Given the description of an element on the screen output the (x, y) to click on. 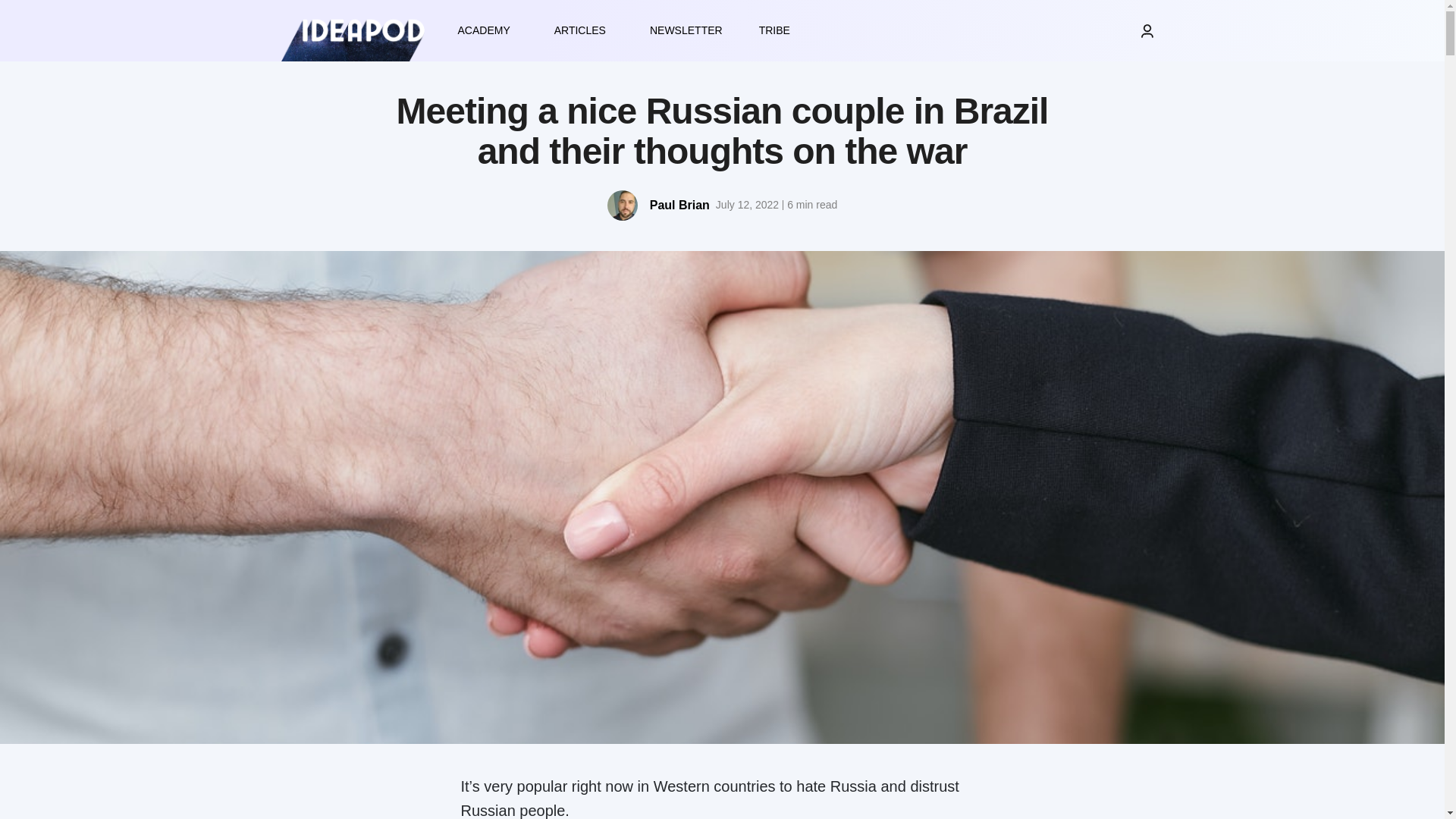
ARTICLES (583, 30)
ACADEMY (487, 30)
NEWSLETTER (686, 30)
